Given the description of an element on the screen output the (x, y) to click on. 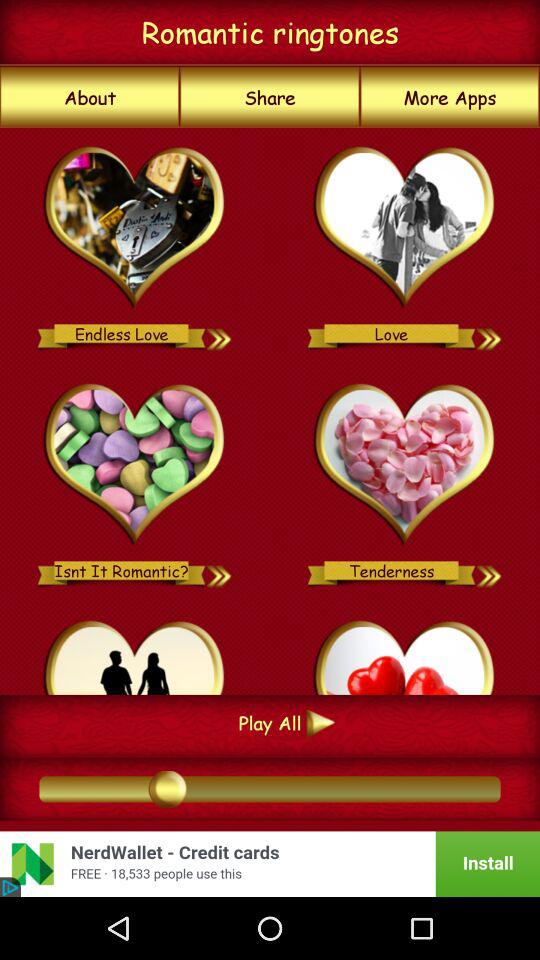
choose ringtone should play (404, 654)
